Given the description of an element on the screen output the (x, y) to click on. 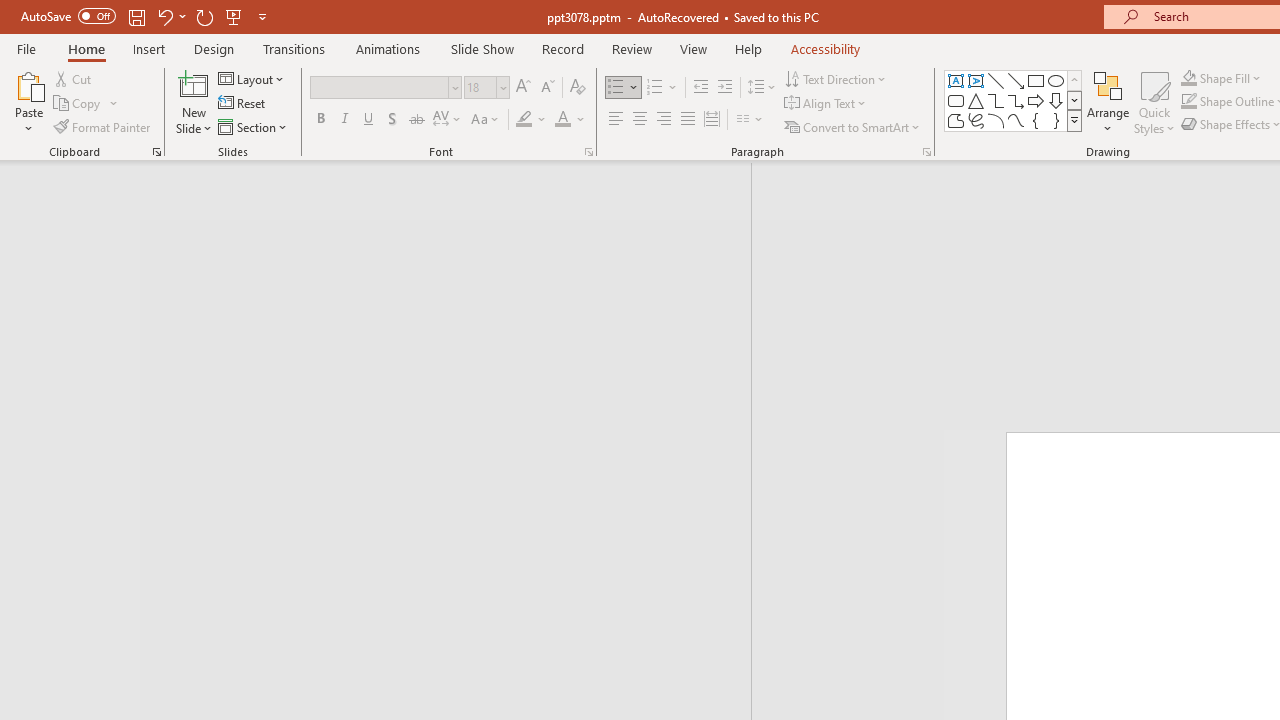
Freeform: Shape (955, 120)
Freeform: Scribble (975, 120)
Numbering (661, 87)
Line (995, 80)
Office Clipboard... (156, 151)
Bullets (623, 87)
AutomationID: ShapesInsertGallery (1014, 100)
Rectangle: Rounded Corners (955, 100)
Italic (344, 119)
Increase Indent (725, 87)
Line Spacing (762, 87)
Row Down (1074, 100)
Rectangle (1035, 80)
